Given the description of an element on the screen output the (x, y) to click on. 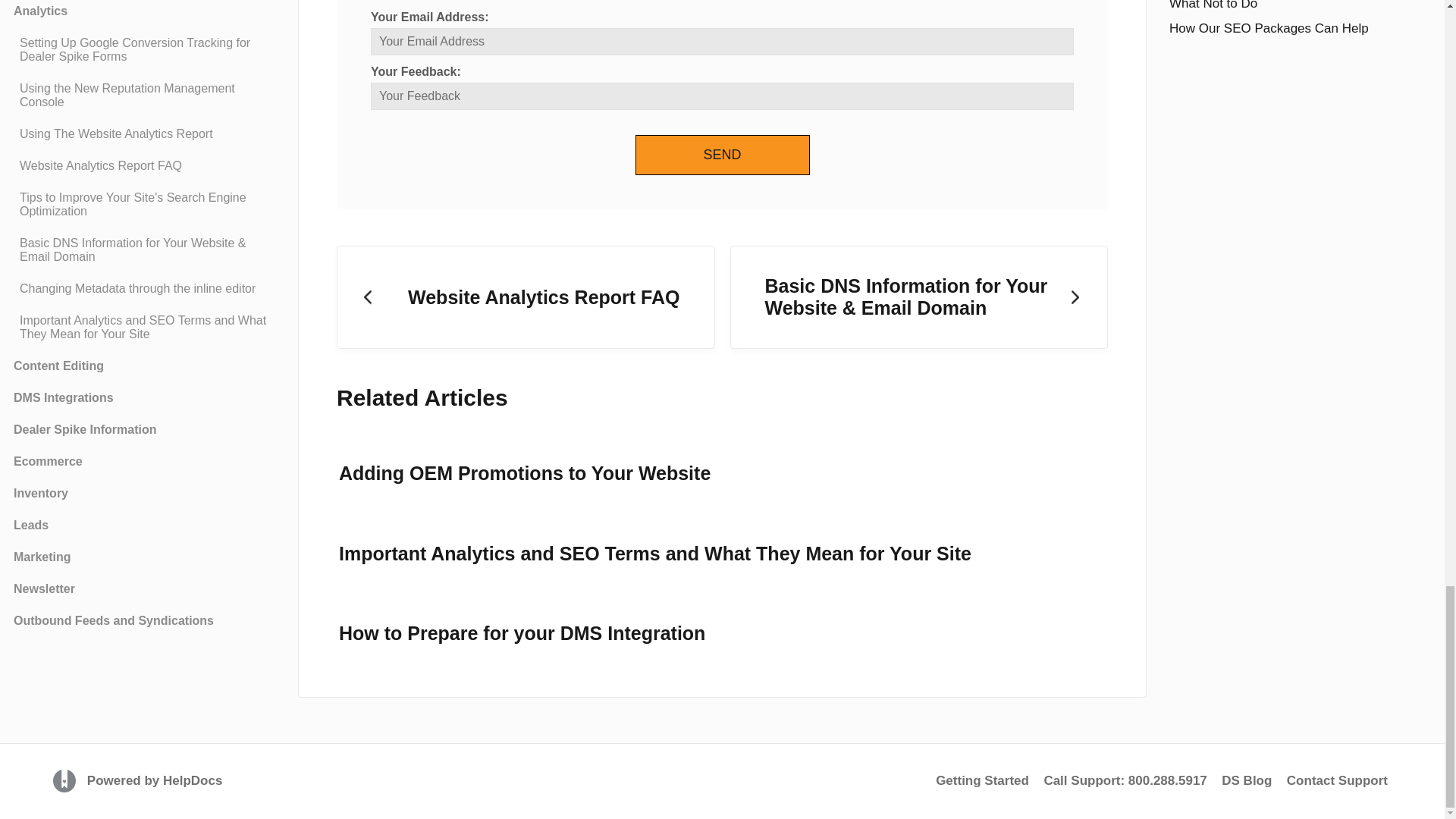
email (722, 41)
Powered by HelpDocs (66, 780)
name (722, 95)
Powered by HelpDocs (151, 780)
